Given the description of an element on the screen output the (x, y) to click on. 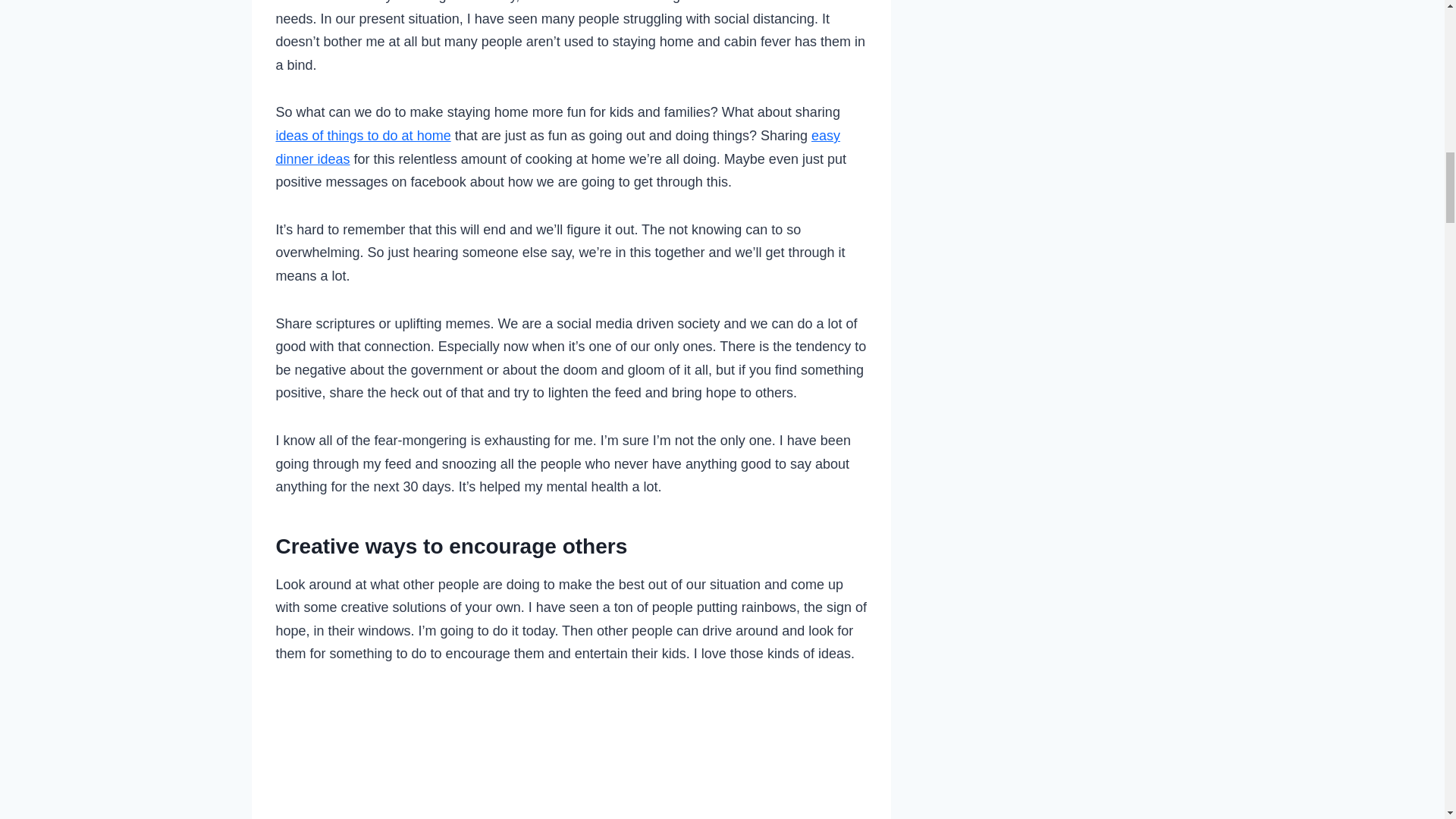
easy dinner ideas (558, 147)
ideas of things to do at home (363, 135)
